Given the description of an element on the screen output the (x, y) to click on. 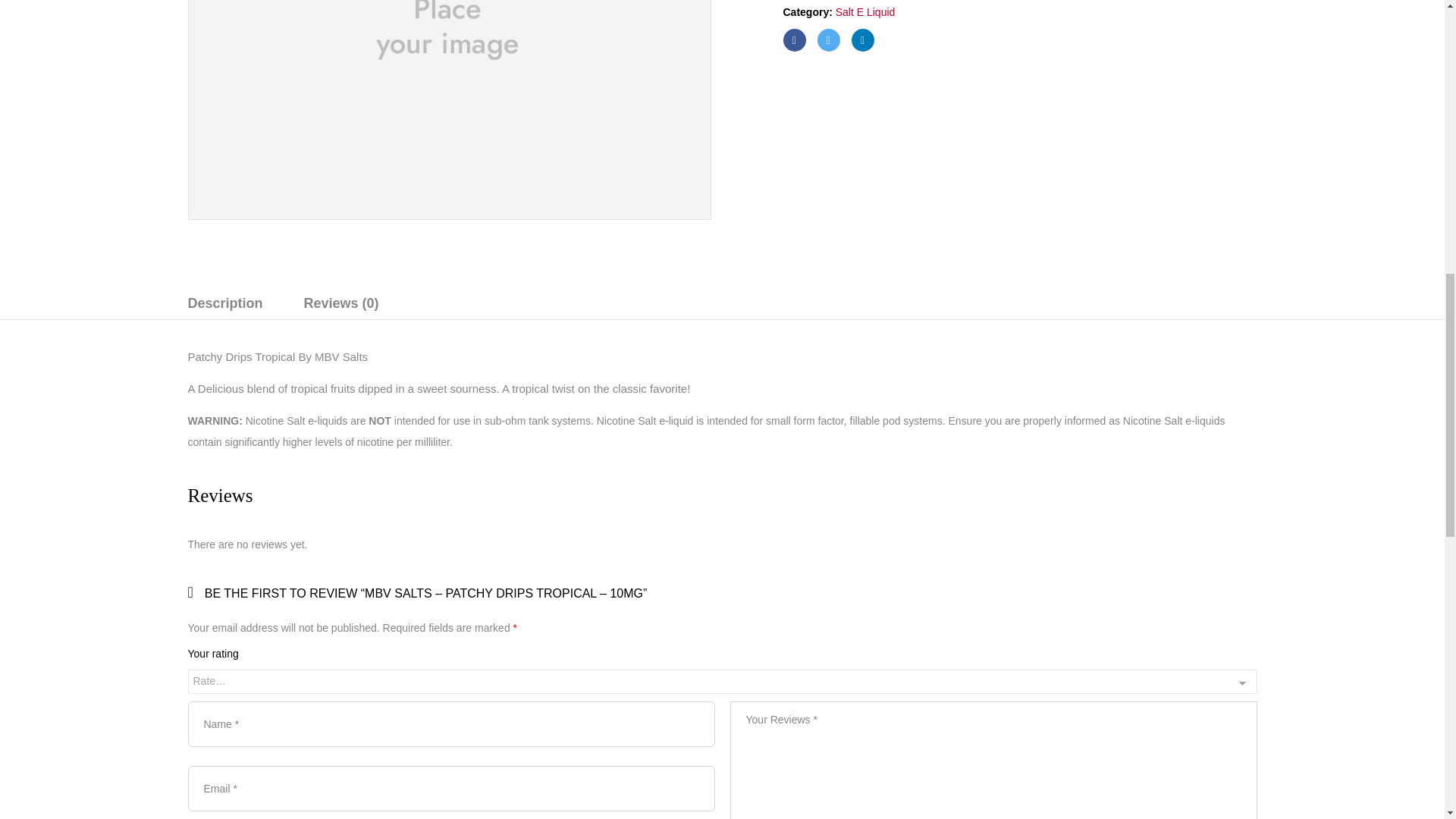
Mbv Salts - Patchy Drips Tropical - 10mg 1 (448, 109)
LinkedIn (861, 39)
Twitter (828, 39)
Facebook (794, 39)
